Given the description of an element on the screen output the (x, y) to click on. 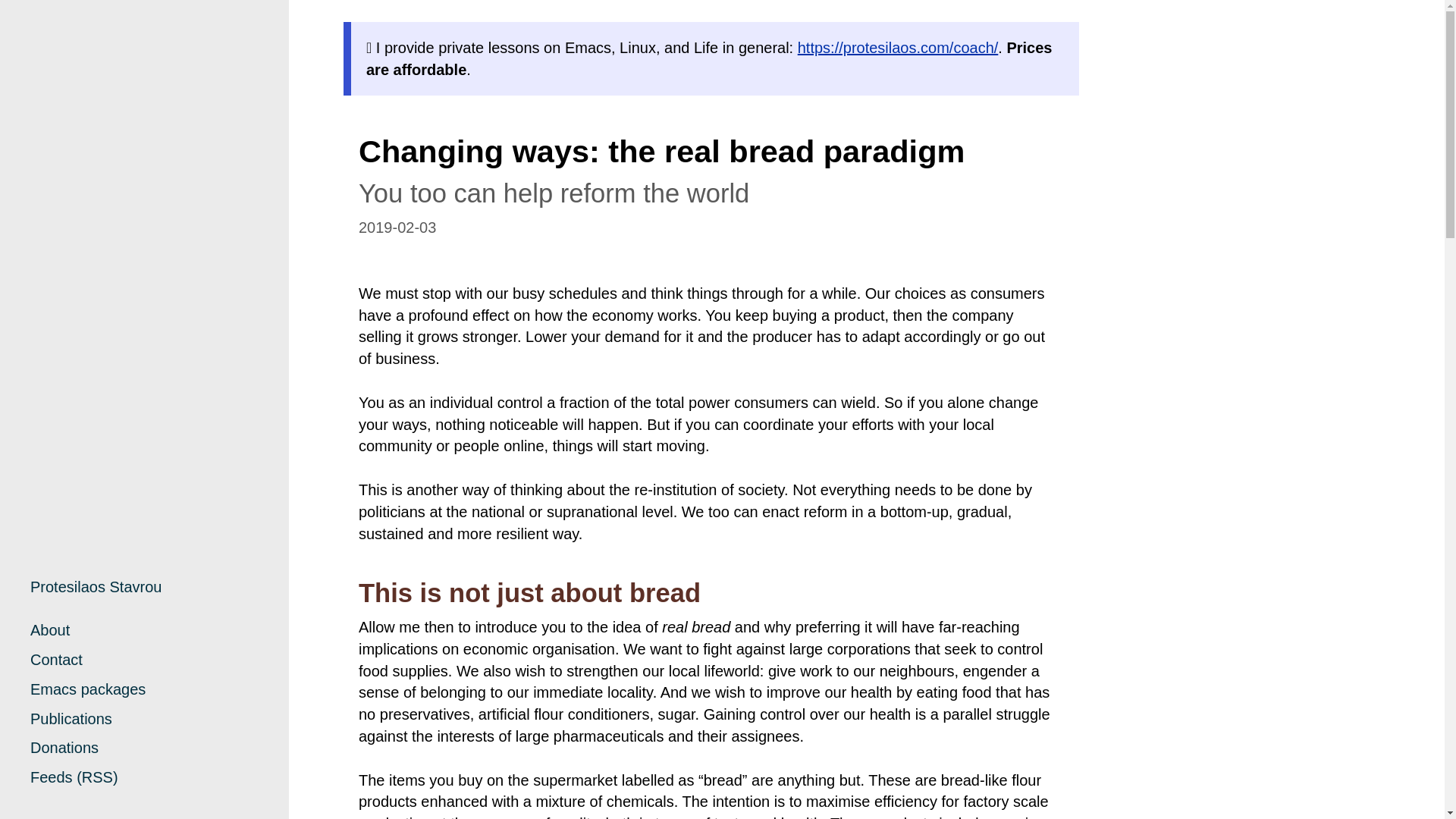
Protesilaos Stavrou (95, 586)
Publications (71, 718)
Emacs packages (87, 688)
Donations (64, 747)
About (49, 629)
Contact (56, 659)
